Given the description of an element on the screen output the (x, y) to click on. 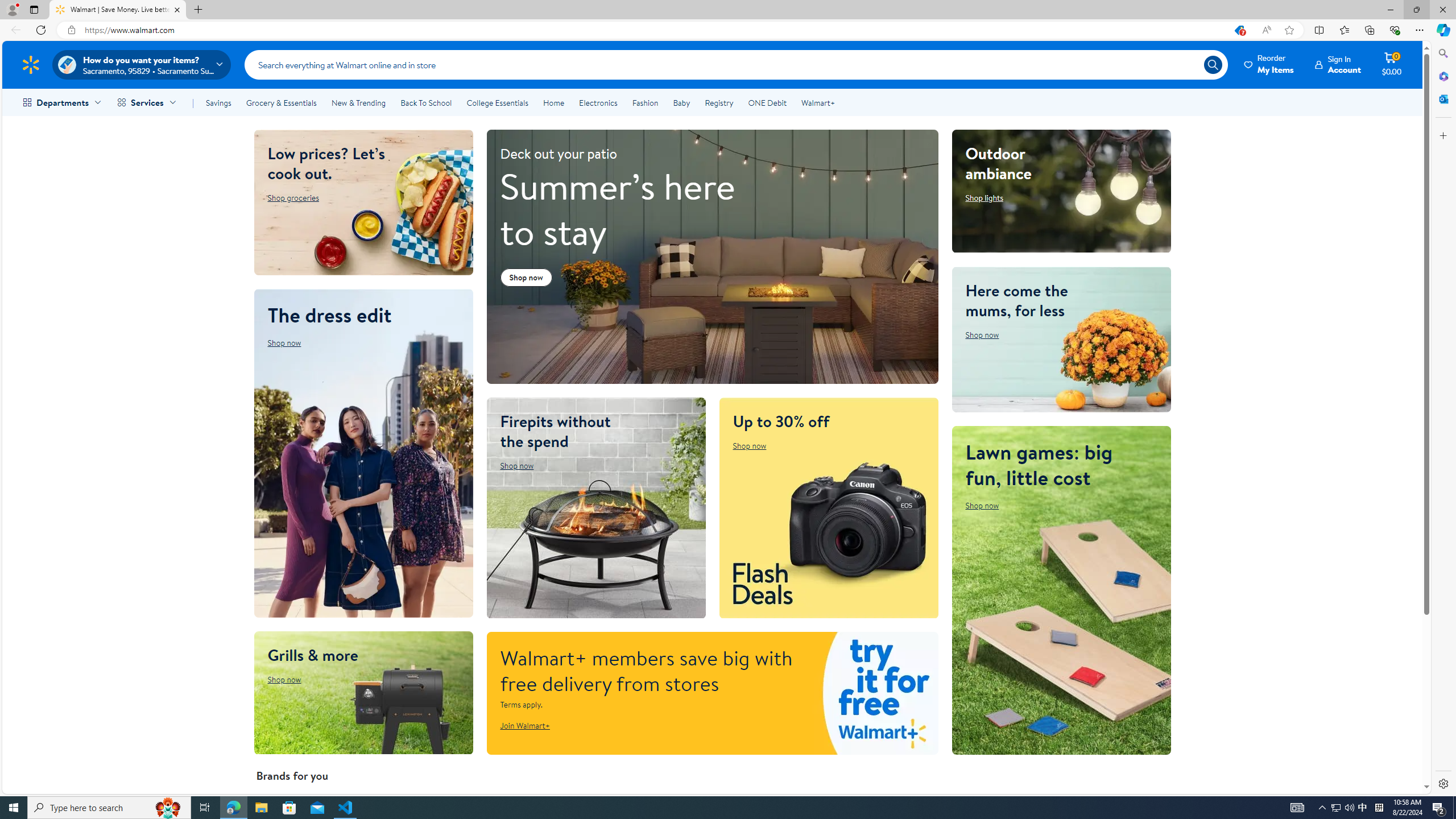
Electronics (598, 102)
Class: dn db-hdkp ml3 relative (1269, 64)
Search icon (1212, 64)
Fashion (644, 102)
Sign In Account (1338, 64)
Shop now Lawn games: big fun, little cost (981, 505)
